Given the description of an element on the screen output the (x, y) to click on. 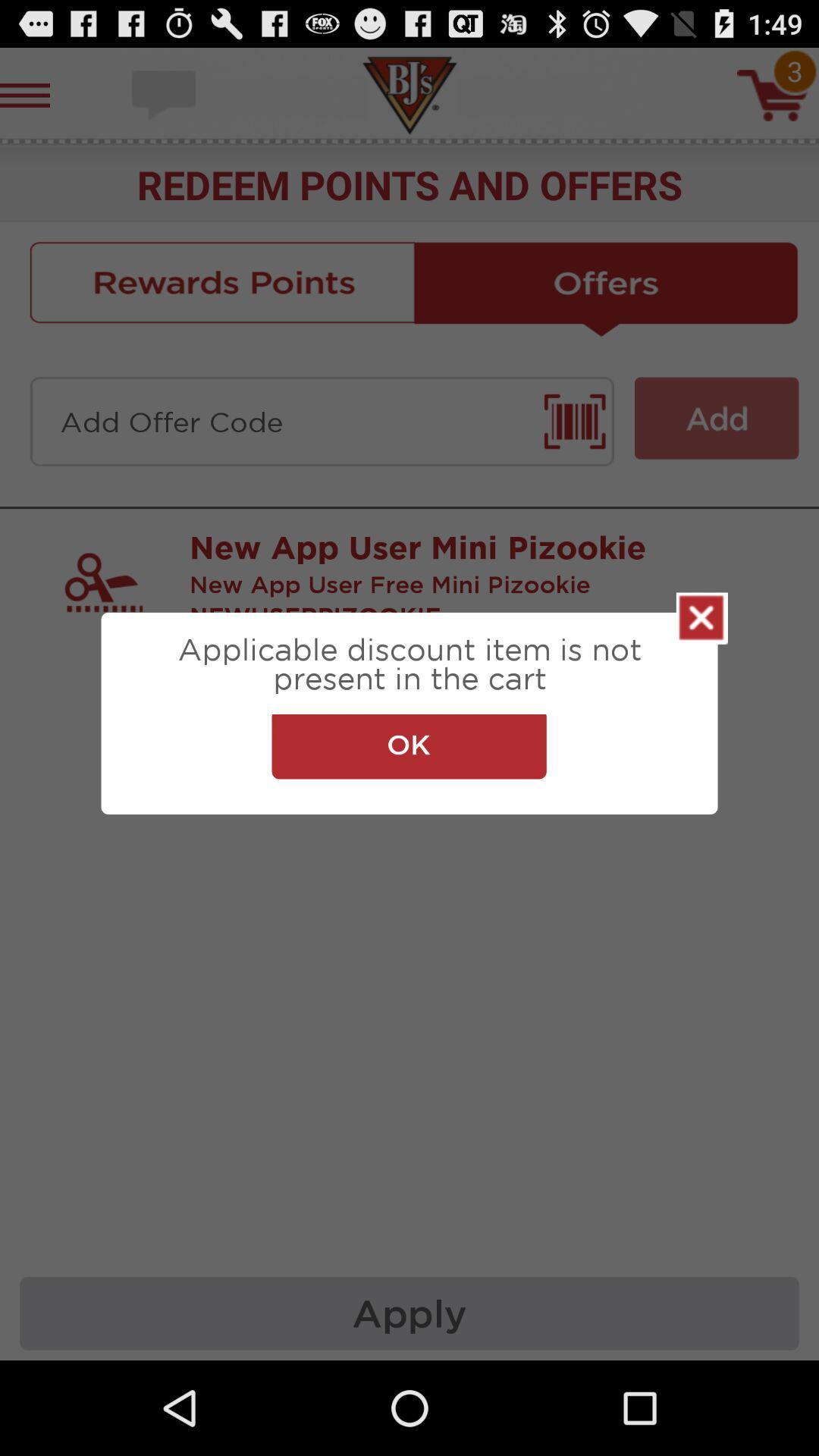
close window (702, 618)
